Given the description of an element on the screen output the (x, y) to click on. 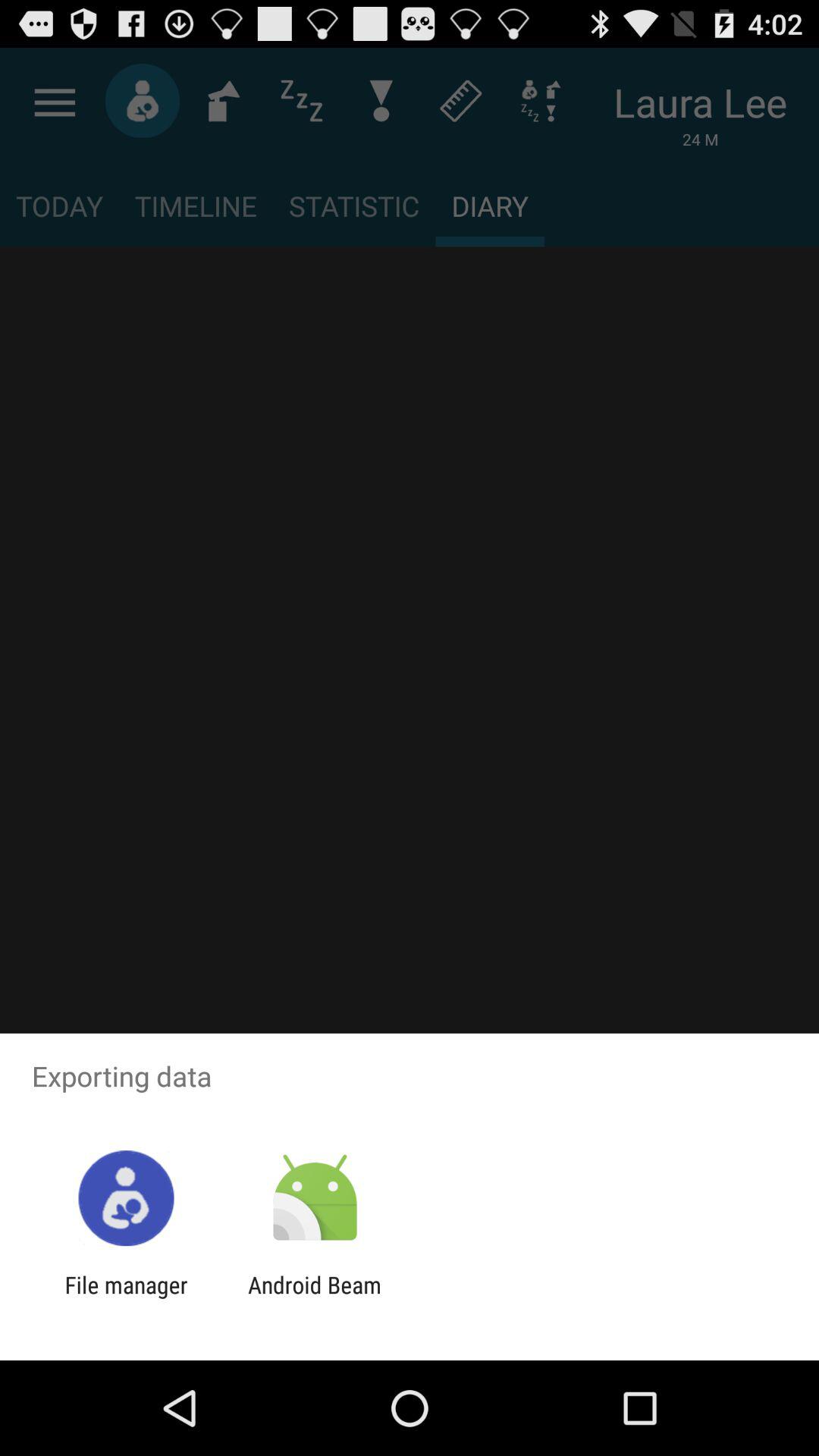
jump until the android beam (314, 1298)
